Given the description of an element on the screen output the (x, y) to click on. 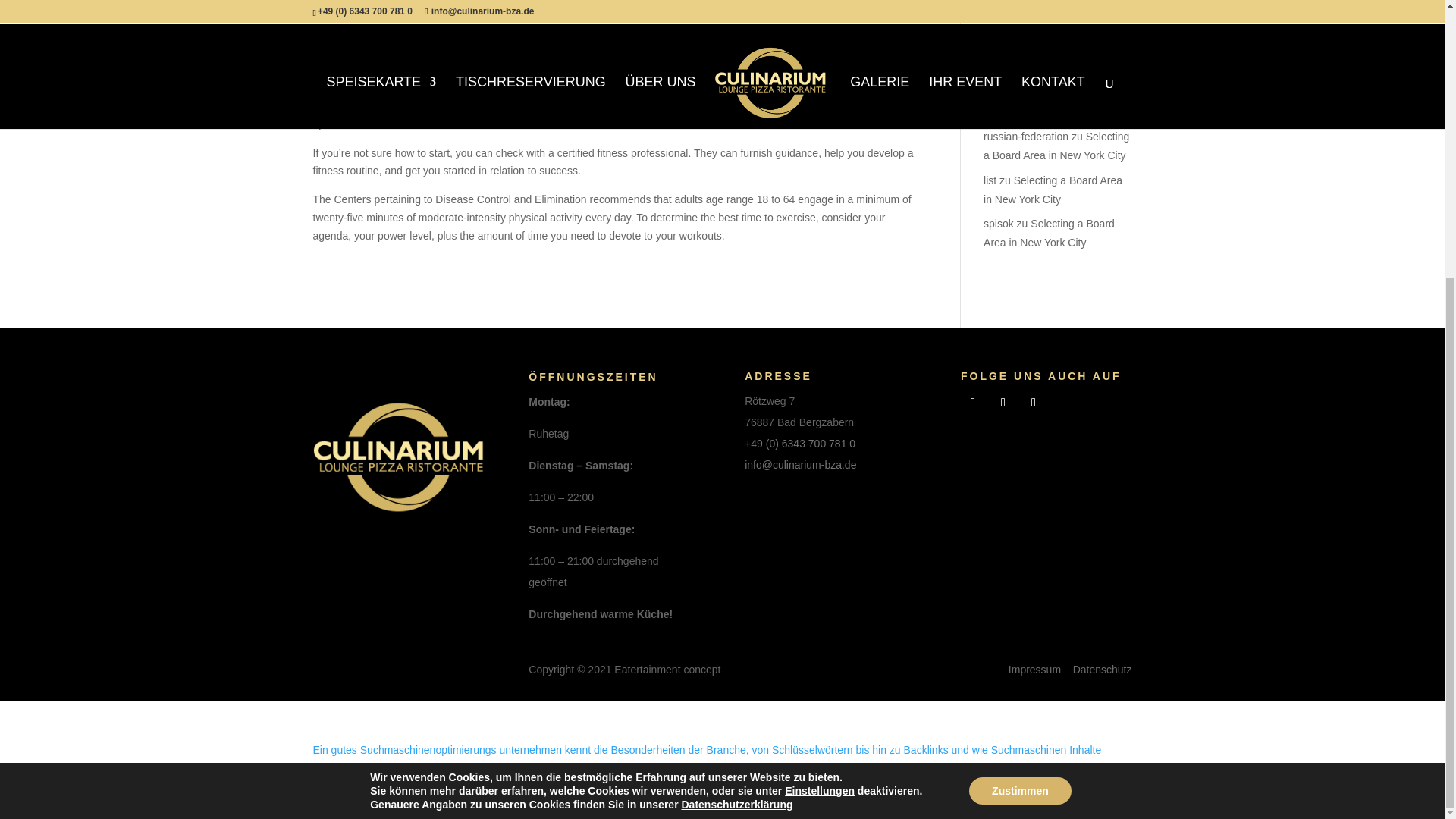
Folge auf Instagram (1002, 402)
Selecting a Board Area in New York City (1056, 145)
Folge auf Facebook (972, 402)
Logo Culinarium Bad Bergzabern (398, 456)
Selecting a Board Area in New York City (1049, 232)
spisok (998, 223)
Folge auf google-plus (1033, 402)
Selecting a Board Area in New York City (1048, 39)
list (989, 180)
russian-federation (1026, 136)
